Given the description of an element on the screen output the (x, y) to click on. 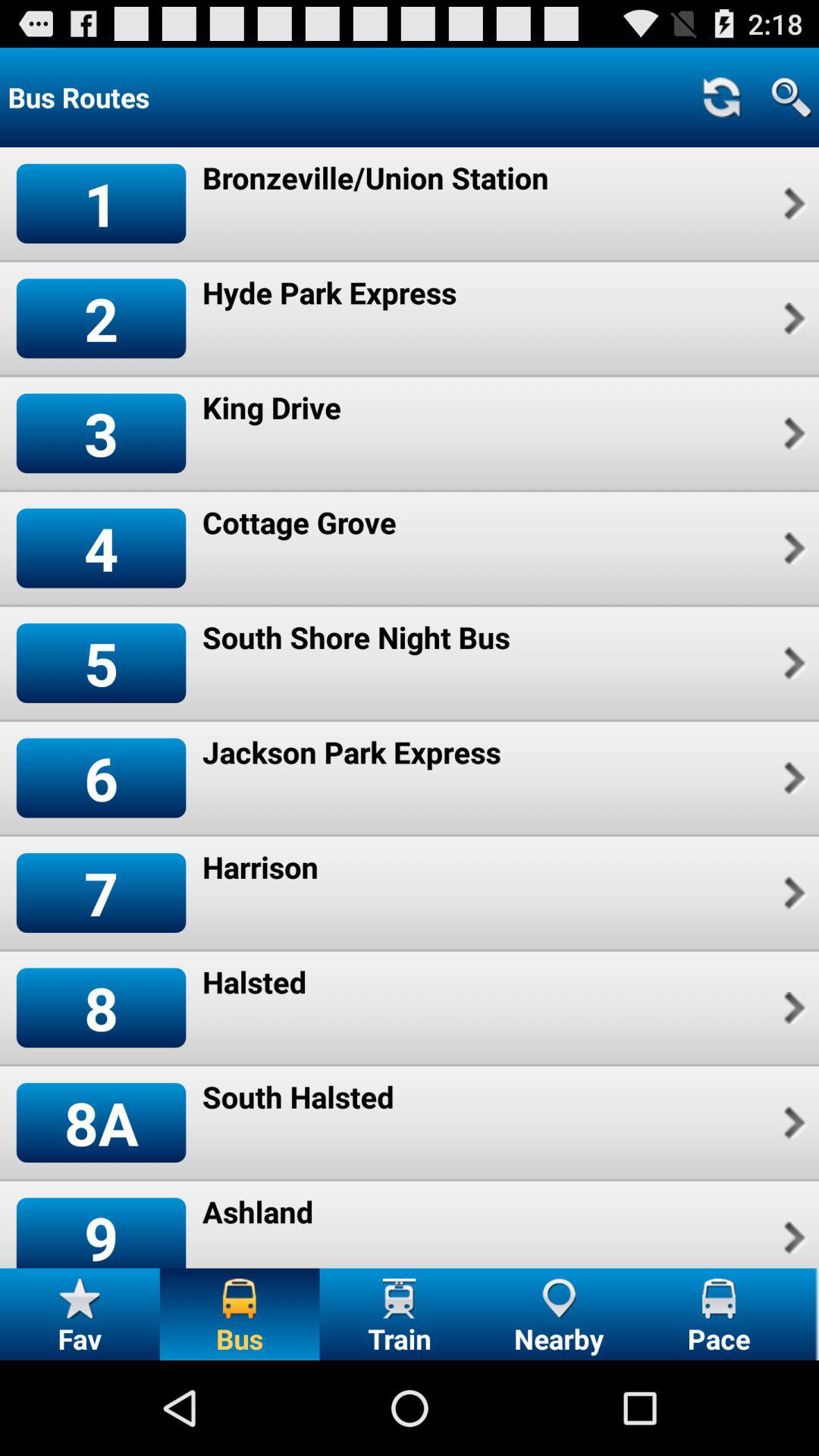
turn on the item next to jackson park express (792, 777)
